Given the description of an element on the screen output the (x, y) to click on. 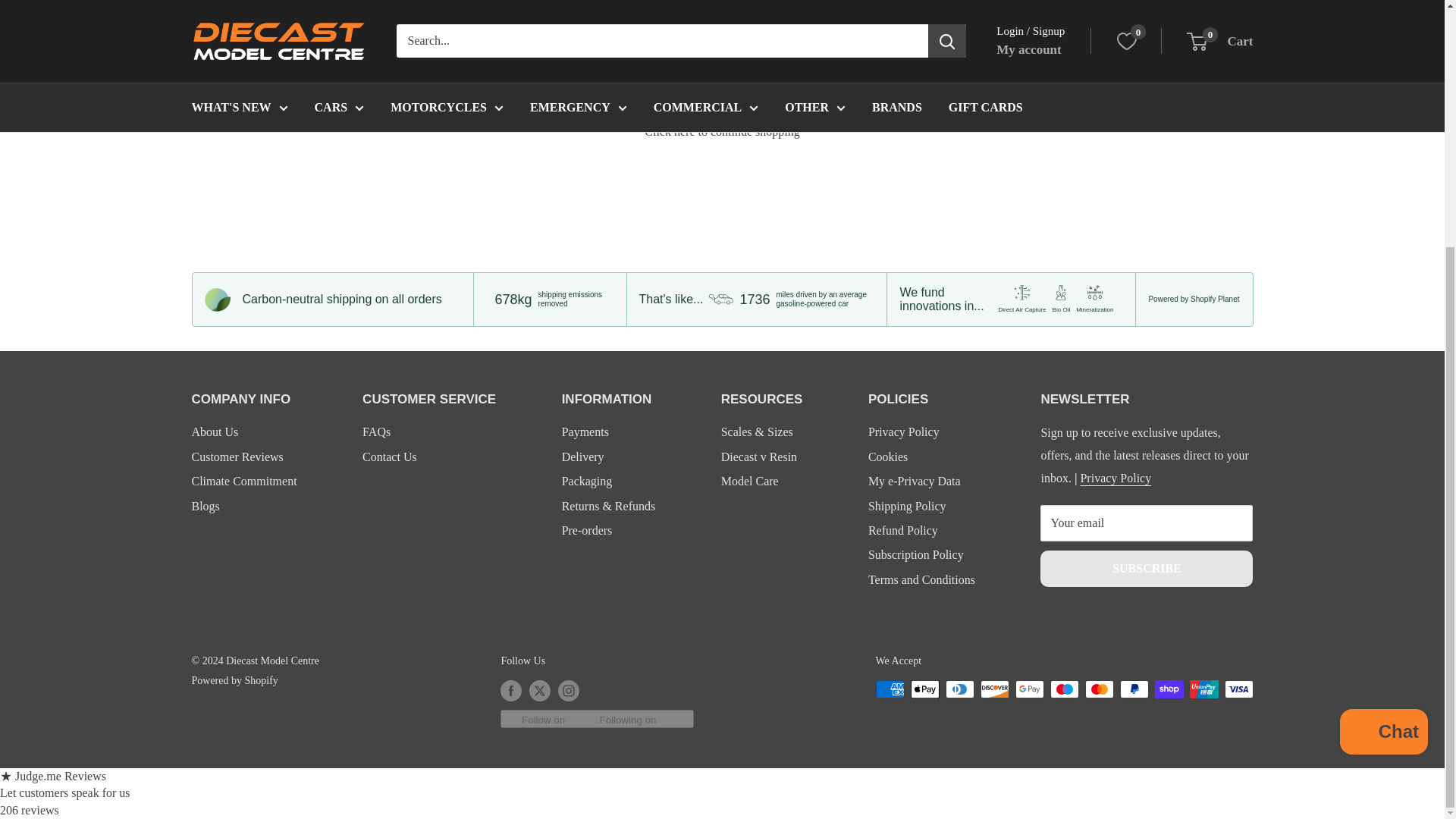
Shopify online store chat (1383, 388)
Privacy Policy (1115, 477)
